Given the description of an element on the screen output the (x, y) to click on. 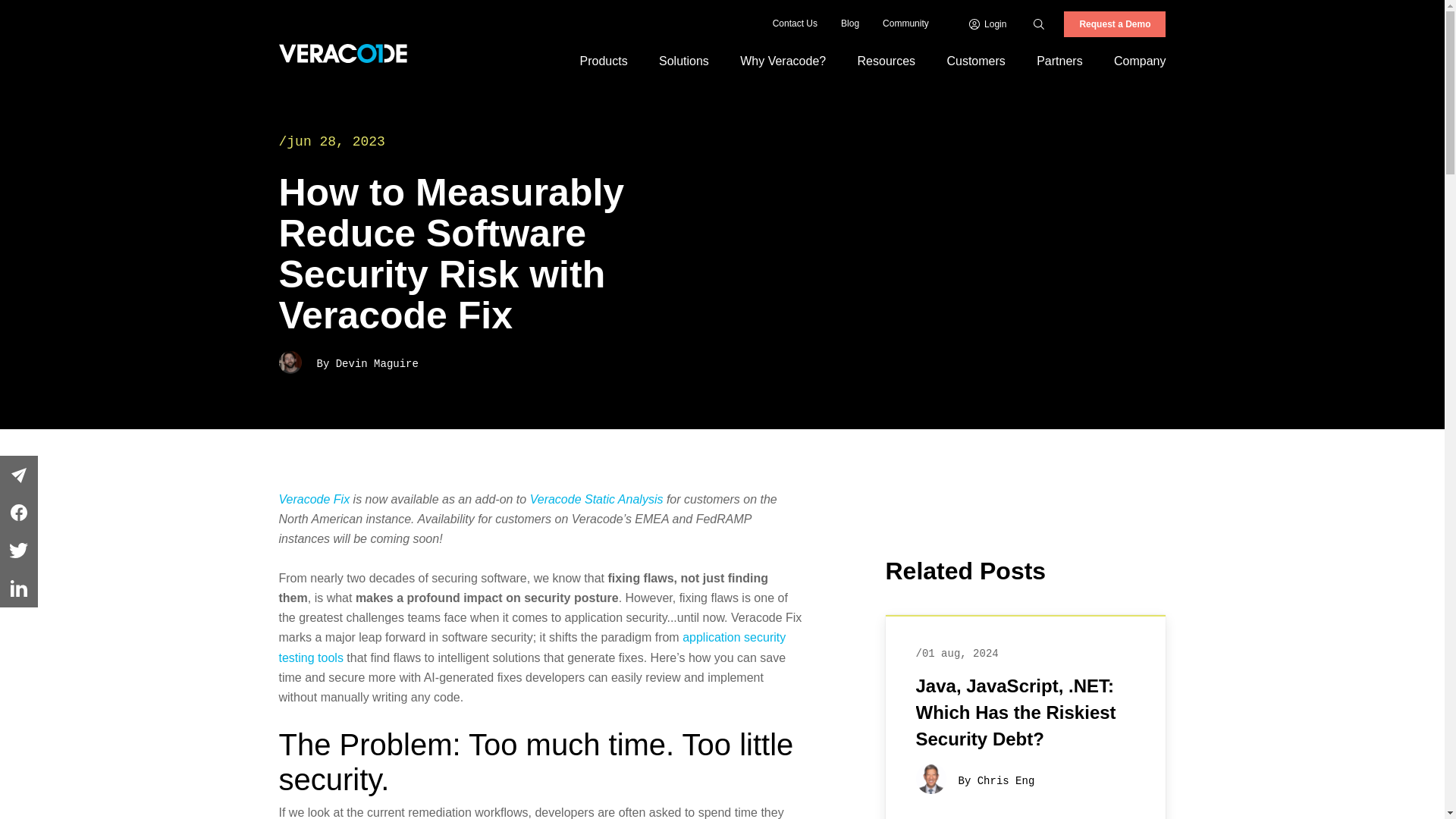
Community (905, 23)
Enter the terms you wish to search for. (1055, 24)
Solutions (683, 61)
Why Veracode? (783, 61)
Veracode (343, 53)
Products (603, 61)
Request a Demo (1115, 23)
Contact Us (794, 23)
Login (988, 23)
